Given the description of an element on the screen output the (x, y) to click on. 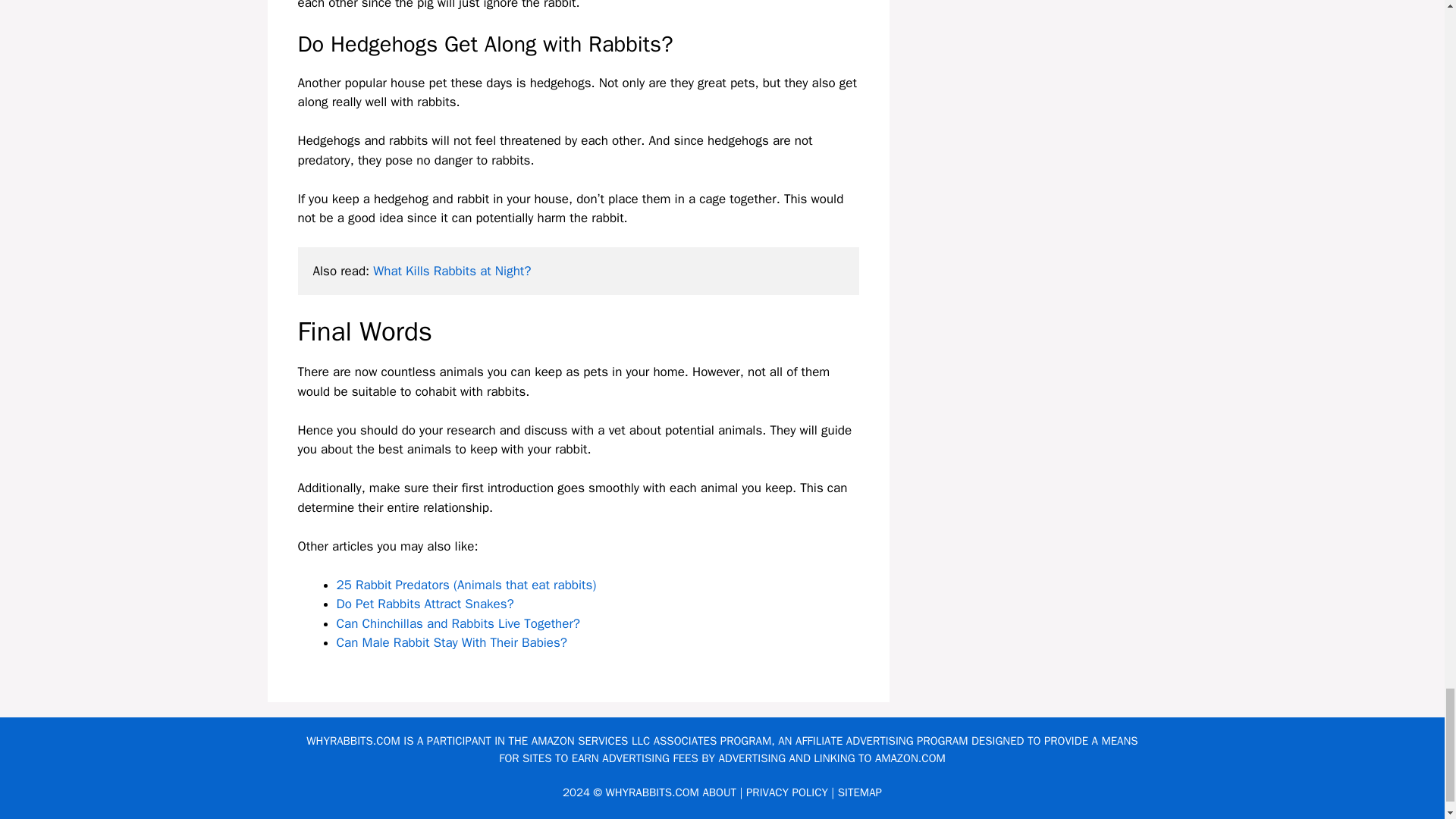
Do Pet Rabbits Attract Snakes? (424, 603)
What Kills Rabbits at Night? (451, 270)
Can Chinchillas and Rabbits Live Together? (458, 623)
Can Male Rabbit Stay With Their Babies? (451, 642)
